Given the description of an element on the screen output the (x, y) to click on. 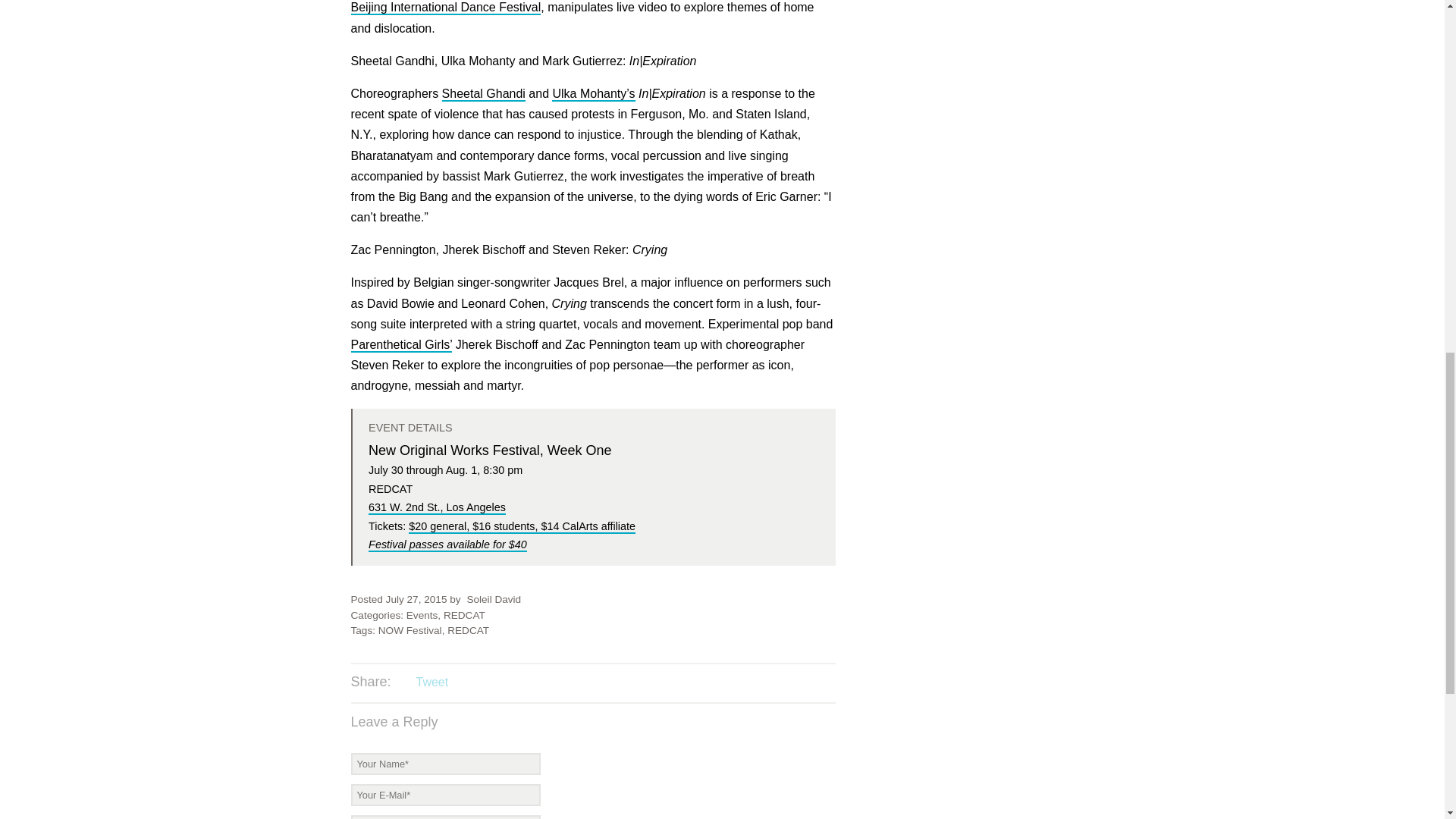
Share on Tumblr (493, 683)
REDCAT (464, 614)
Events (422, 614)
Beijing International Dance Festival (445, 7)
Share on Tumblr (493, 683)
Tweet (431, 681)
NOW Festival (410, 630)
Sheetal Ghandi (483, 93)
REDCAT (467, 630)
631 W. 2nd St., Los Angeles (436, 508)
